Given the description of an element on the screen output the (x, y) to click on. 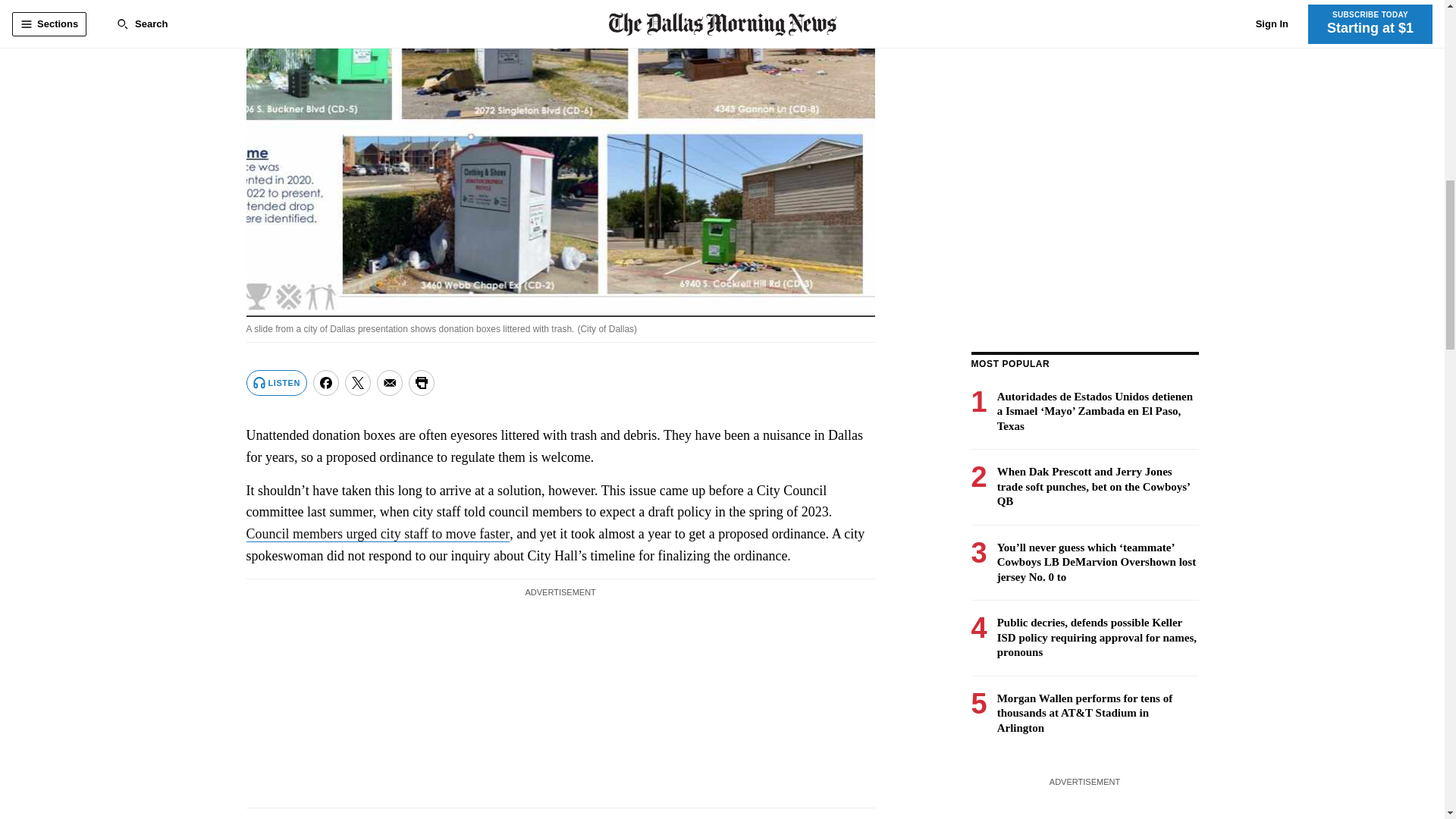
Share via Email (390, 382)
Print (421, 382)
Share on Twitter (358, 382)
Share on Facebook (326, 382)
